Given the description of an element on the screen output the (x, y) to click on. 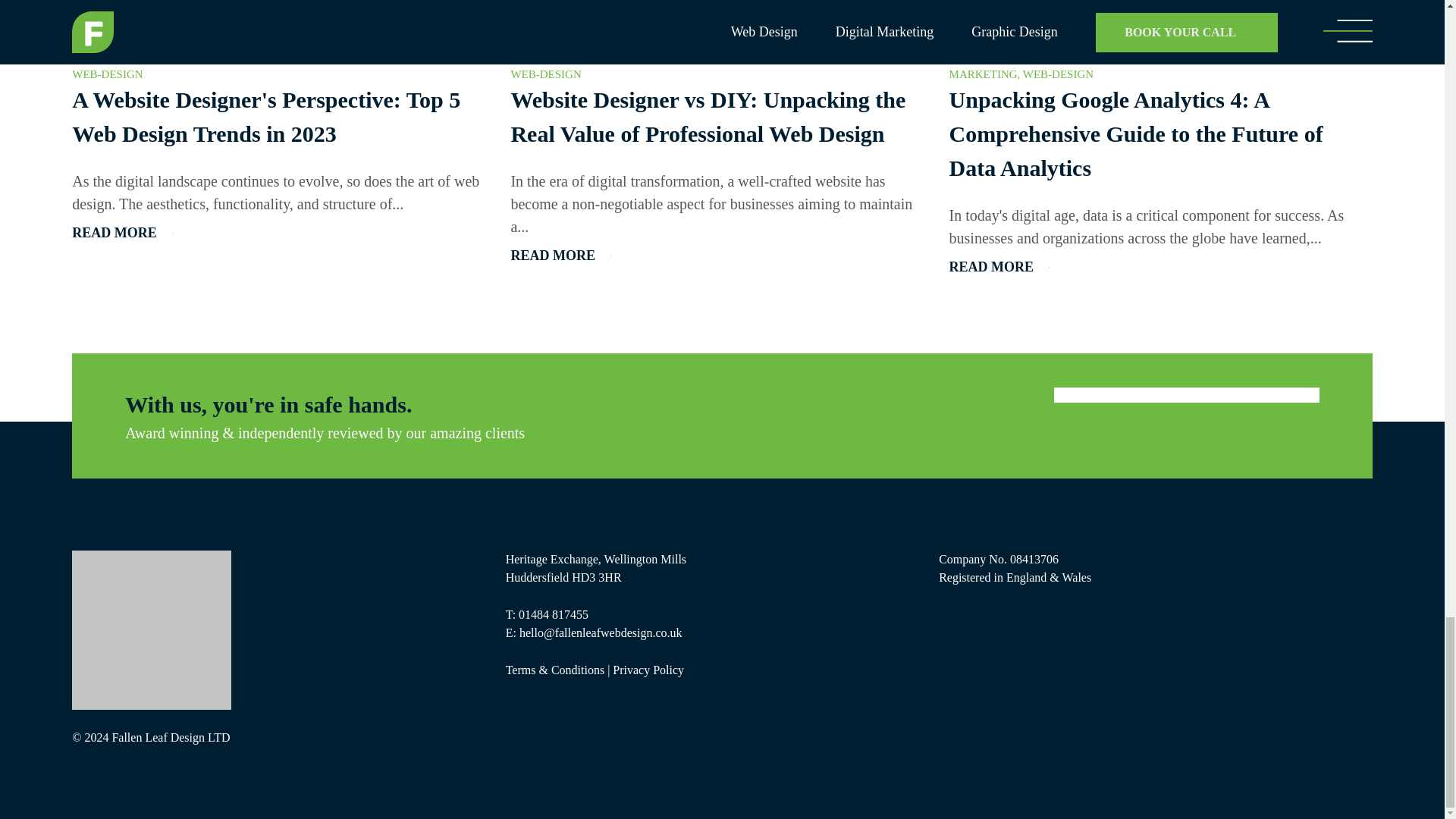
READ MORE (999, 267)
01484 817455 (553, 614)
READ MORE (561, 255)
Privacy Policy (648, 669)
READ MORE (122, 232)
